Given the description of an element on the screen output the (x, y) to click on. 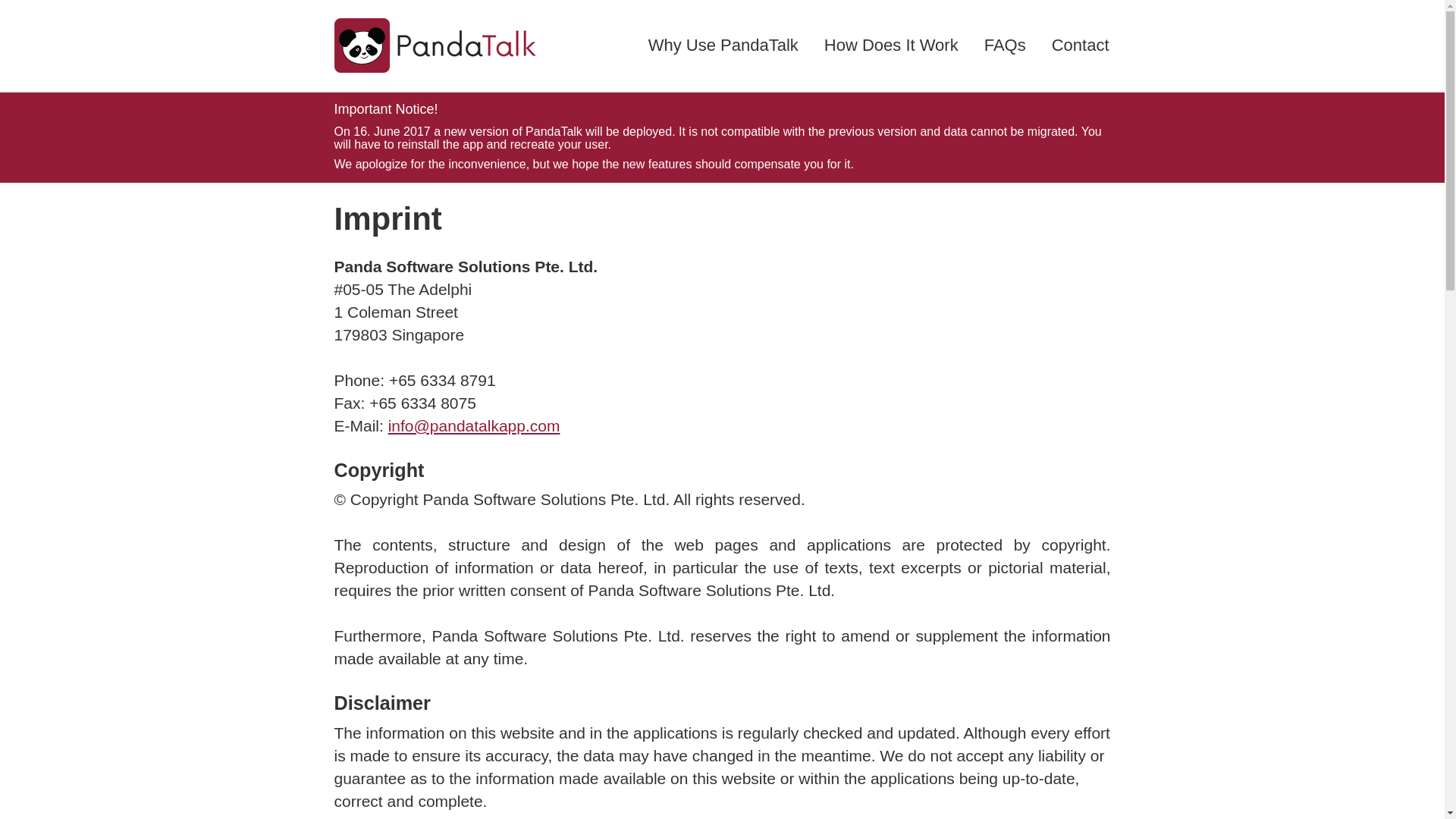
How Does It Work (890, 45)
Contact (1080, 45)
Why Use PandaTalk (723, 45)
Contact (1079, 45)
FAQs (1004, 45)
How Does It Work (891, 45)
FAQs (1005, 45)
Why Use PandaTalk (722, 45)
